Given the description of an element on the screen output the (x, y) to click on. 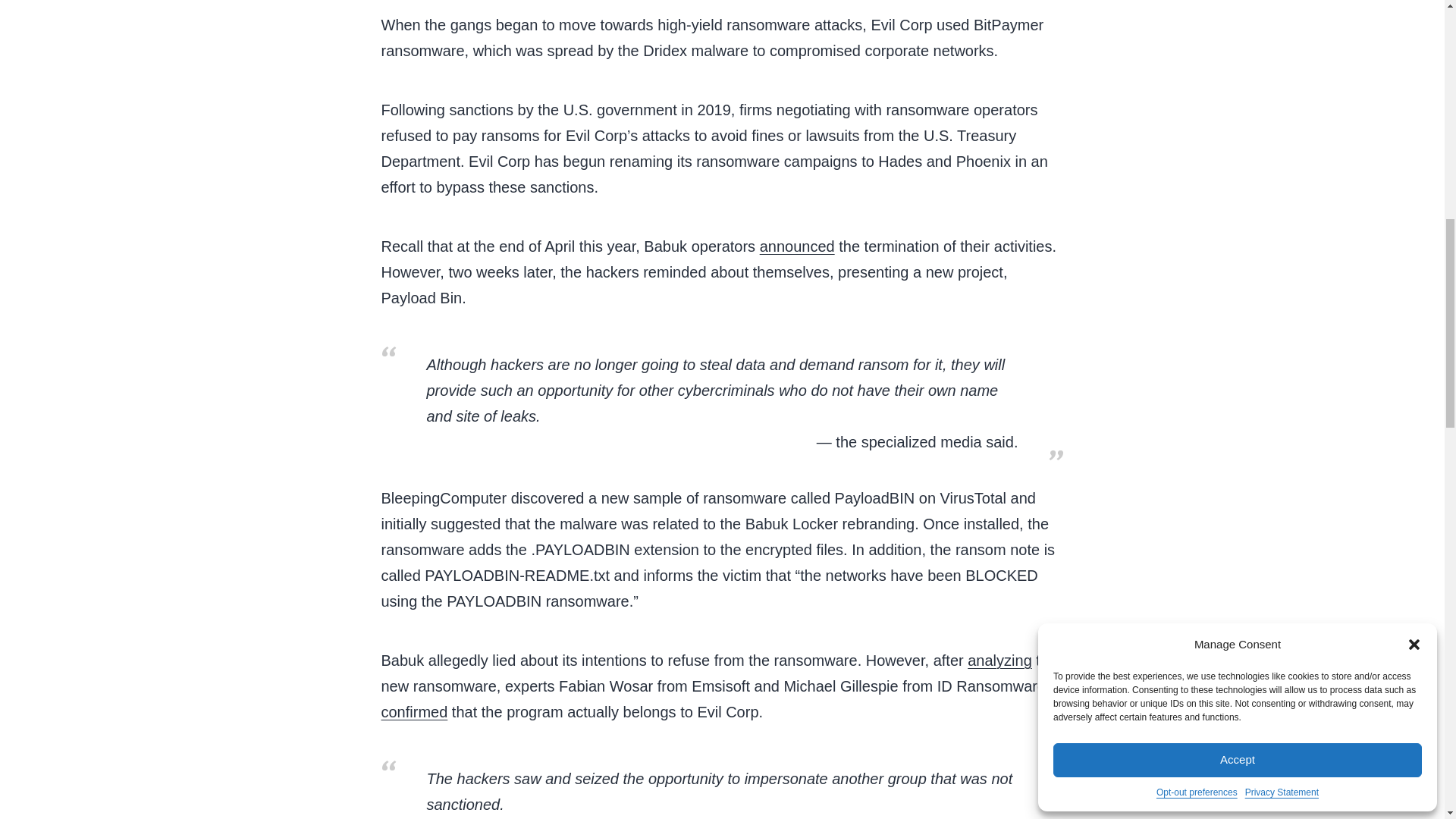
confirmed (413, 711)
announced (797, 246)
analyzing (1000, 660)
